Given the description of an element on the screen output the (x, y) to click on. 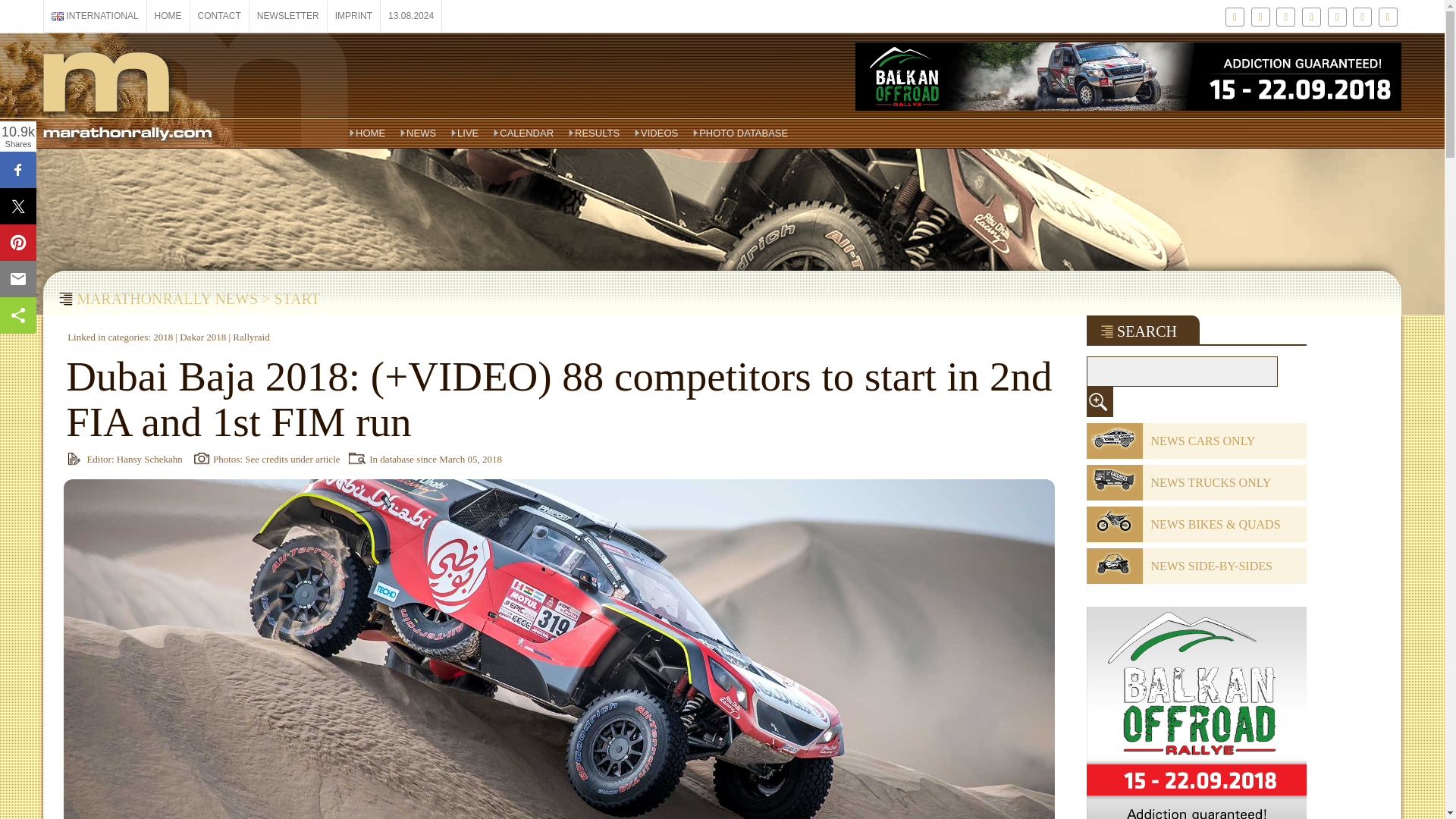
CALENDAR (523, 133)
HOME (367, 133)
CONTACT (219, 15)
IMPRINT (353, 15)
13.08.2024 (410, 15)
VIDEOS (656, 133)
INTERNATIONAL (95, 15)
PHOTO DATABASE (739, 133)
NEWSLETTER (287, 15)
RESULTS (593, 133)
